Given the description of an element on the screen output the (x, y) to click on. 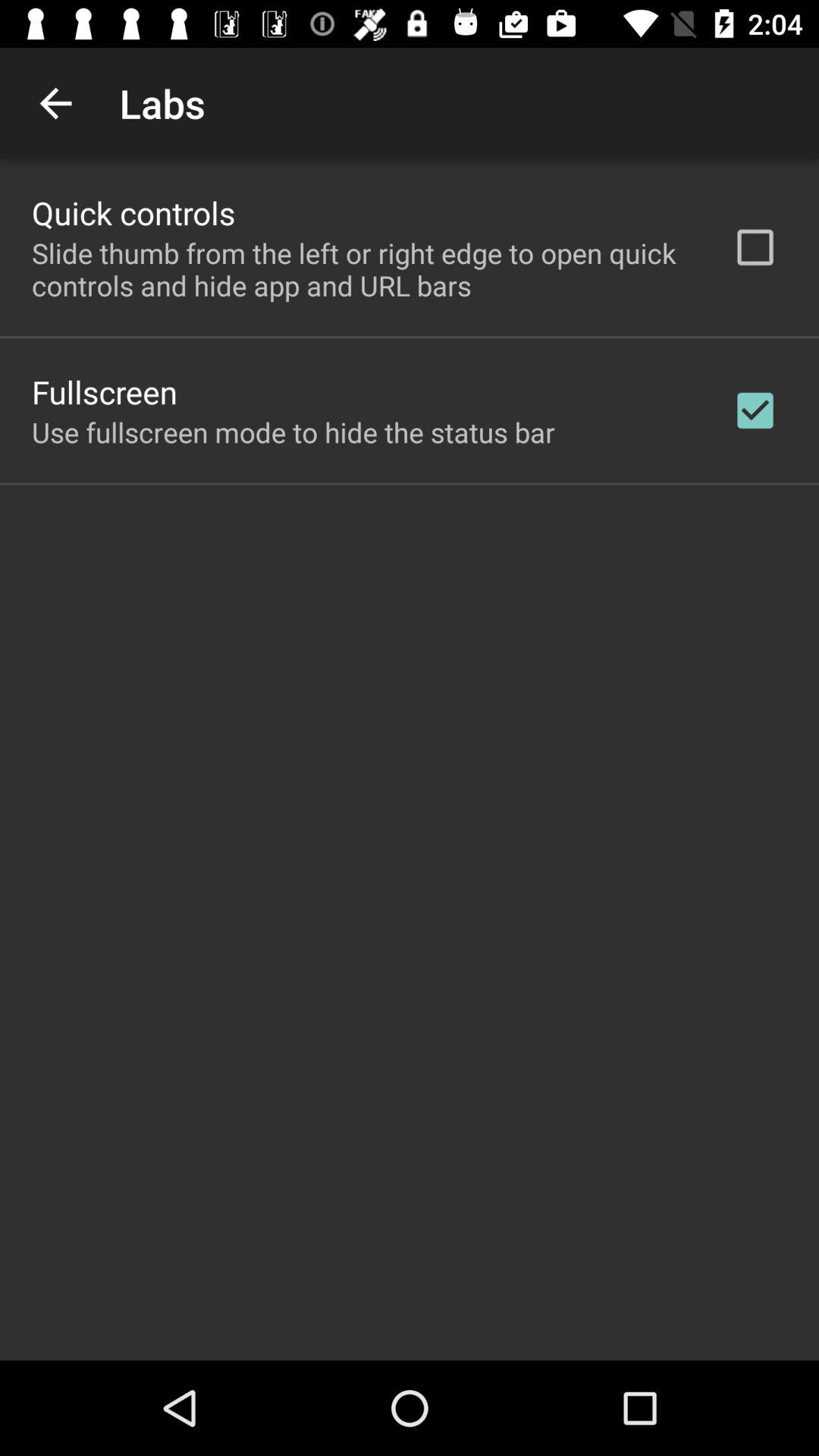
turn off the slide thumb from icon (361, 269)
